Given the description of an element on the screen output the (x, y) to click on. 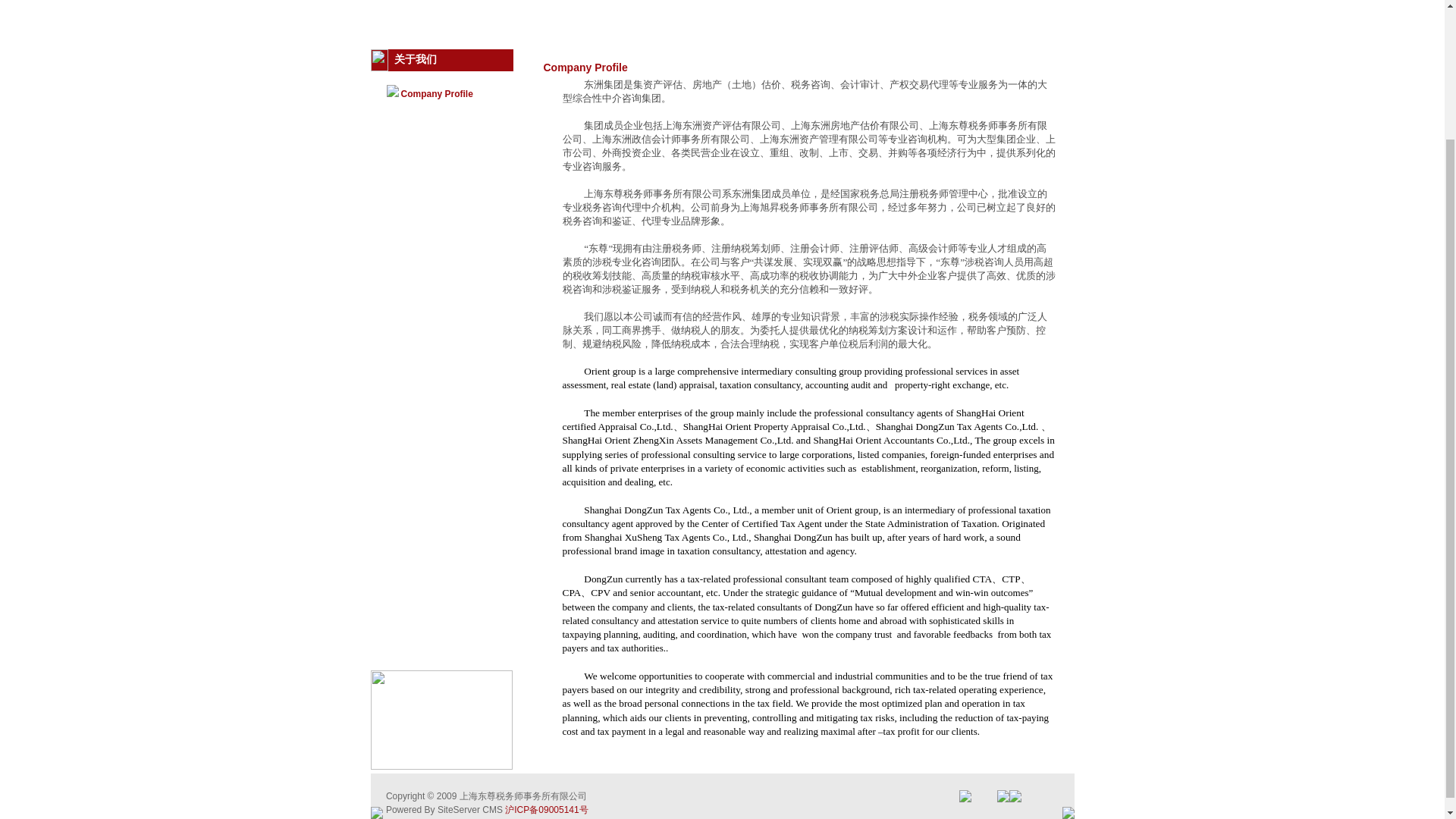
Company Profile (435, 93)
